Given the description of an element on the screen output the (x, y) to click on. 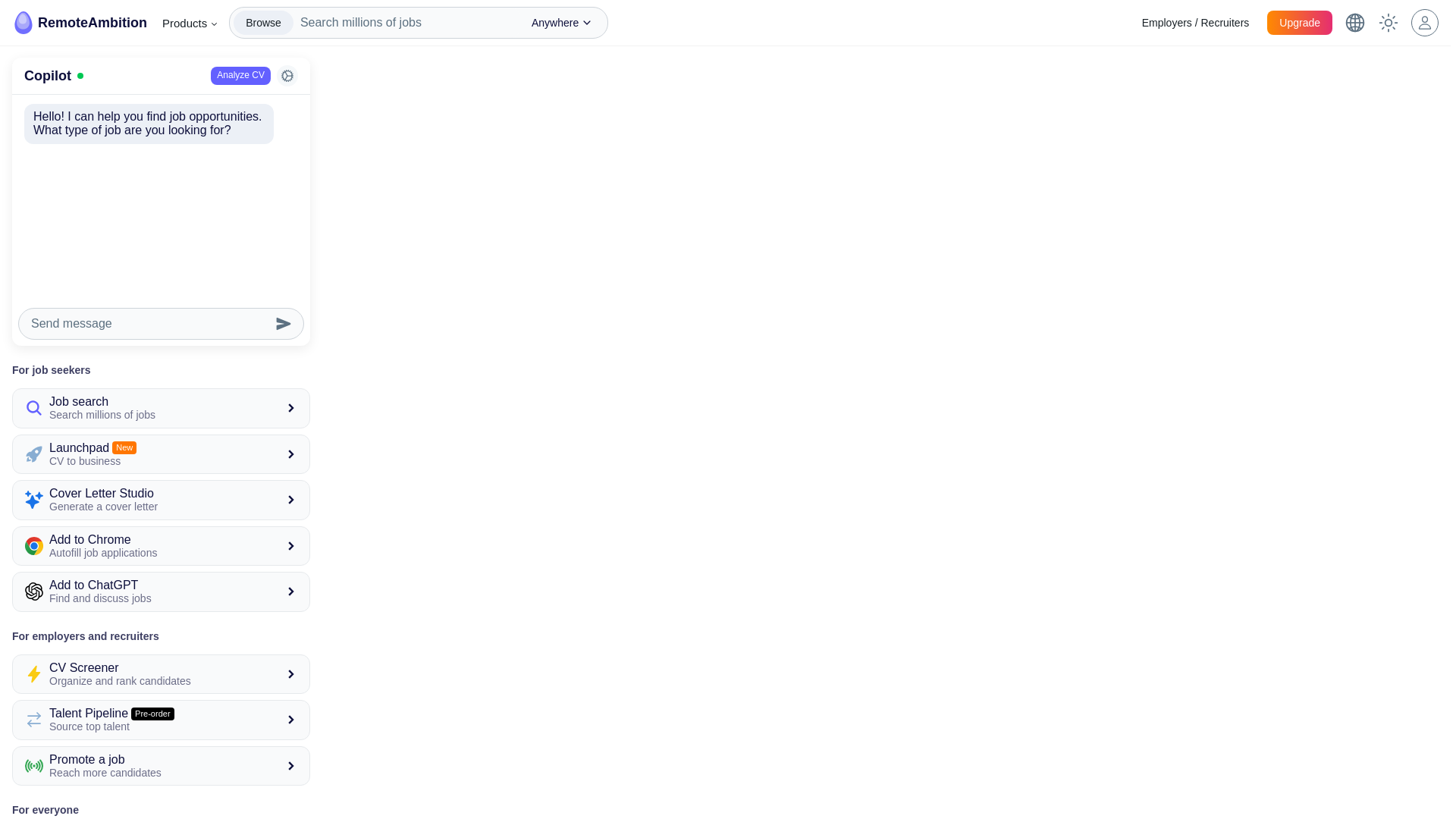
Products (160, 719)
Browse (190, 22)
RemoteAmbition (263, 22)
Upgrade (79, 22)
